Given the description of an element on the screen output the (x, y) to click on. 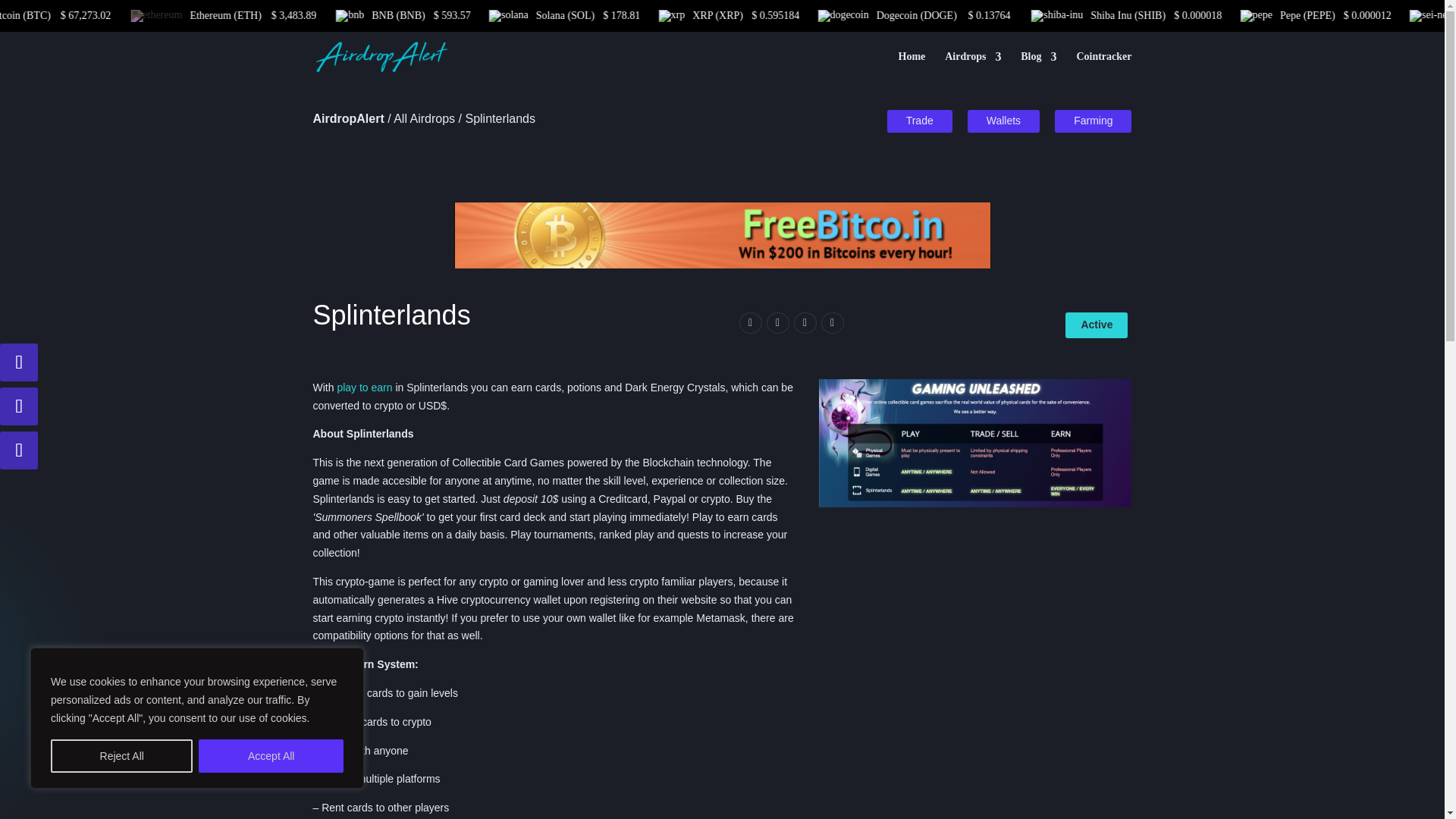
Follow on Telegram (18, 406)
Follow on Facebook (18, 450)
Accept All (270, 756)
Blog (1038, 68)
Cointracker (1103, 68)
Blast-Mainnet5555 (975, 443)
Follow on X (18, 362)
Reject All (121, 756)
Airdrops (972, 68)
